Given the description of an element on the screen output the (x, y) to click on. 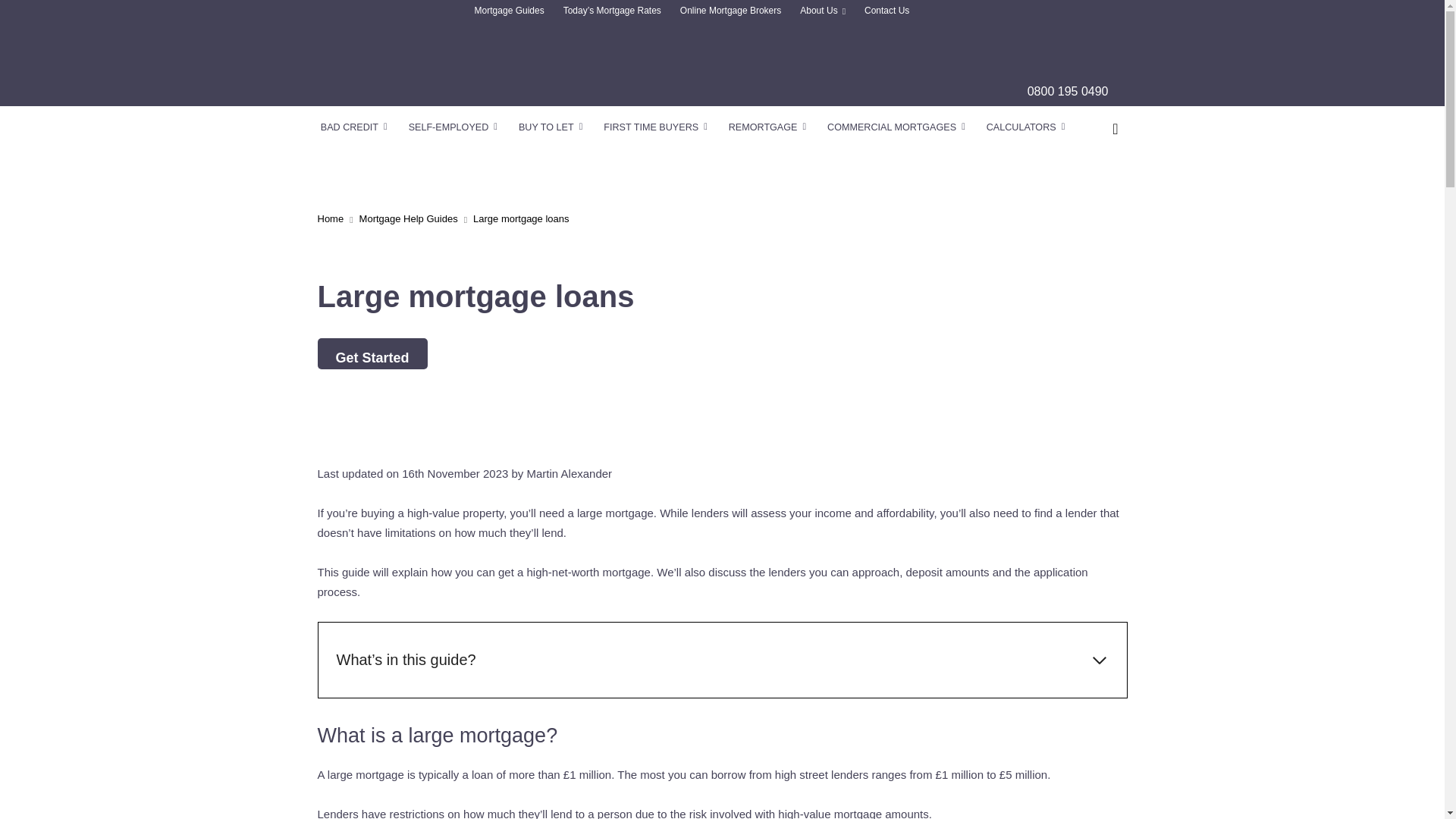
View all posts in Mortgage Help Guides (408, 218)
Get Started (371, 353)
